Given the description of an element on the screen output the (x, y) to click on. 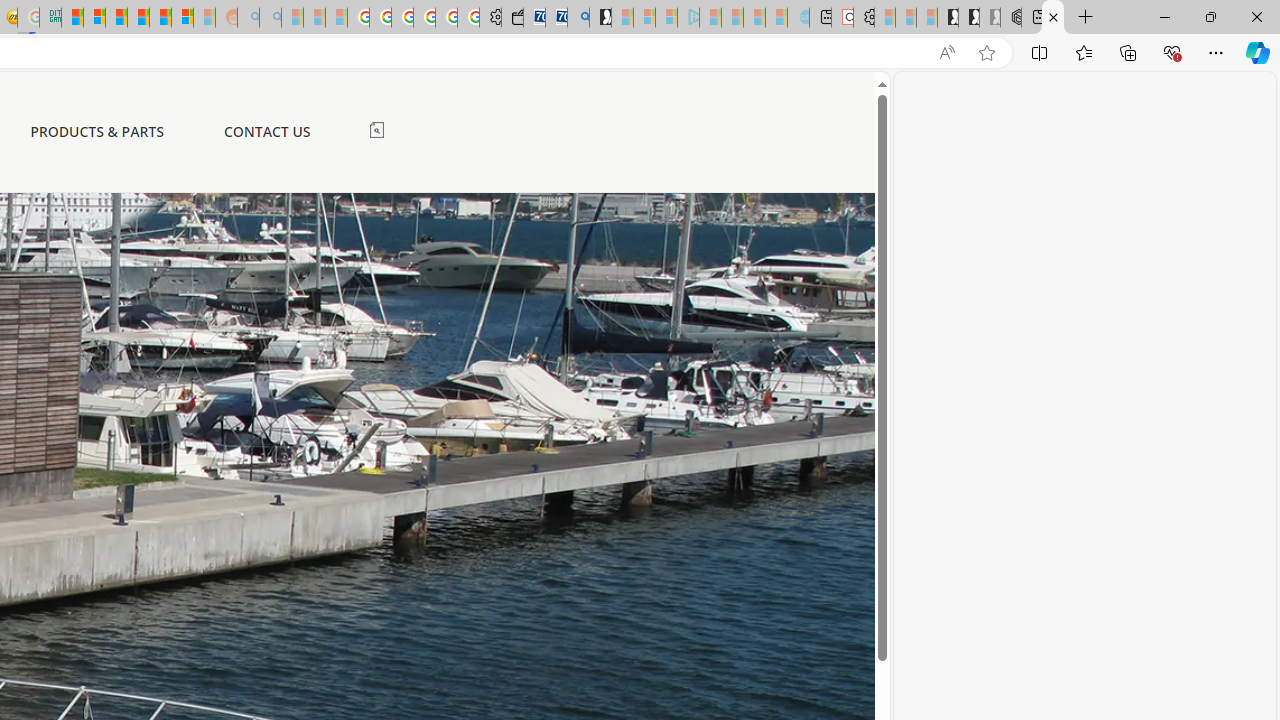
Bing Real Estate - Home sales and rental listings (578, 17)
